Given the description of an element on the screen output the (x, y) to click on. 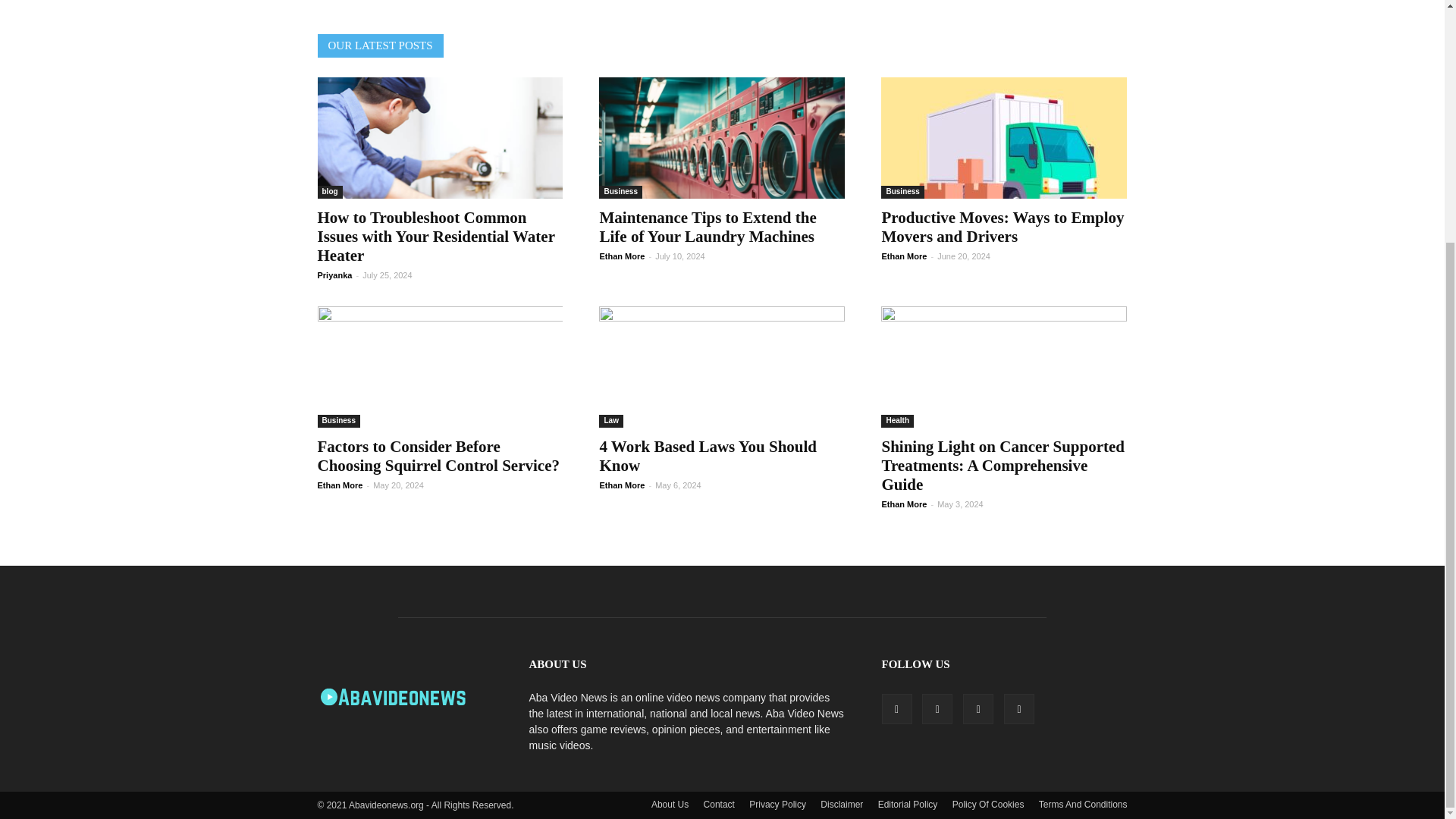
Productive Moves: Ways to Employ Movers and Drivers (1002, 226)
blog (329, 192)
Maintenance Tips to Extend the Life of Your Laundry Machines (706, 226)
Productive Moves: Ways to Employ Movers and Drivers (1003, 137)
Maintenance Tips to Extend the Life of Your Laundry Machines (721, 137)
